Given the description of an element on the screen output the (x, y) to click on. 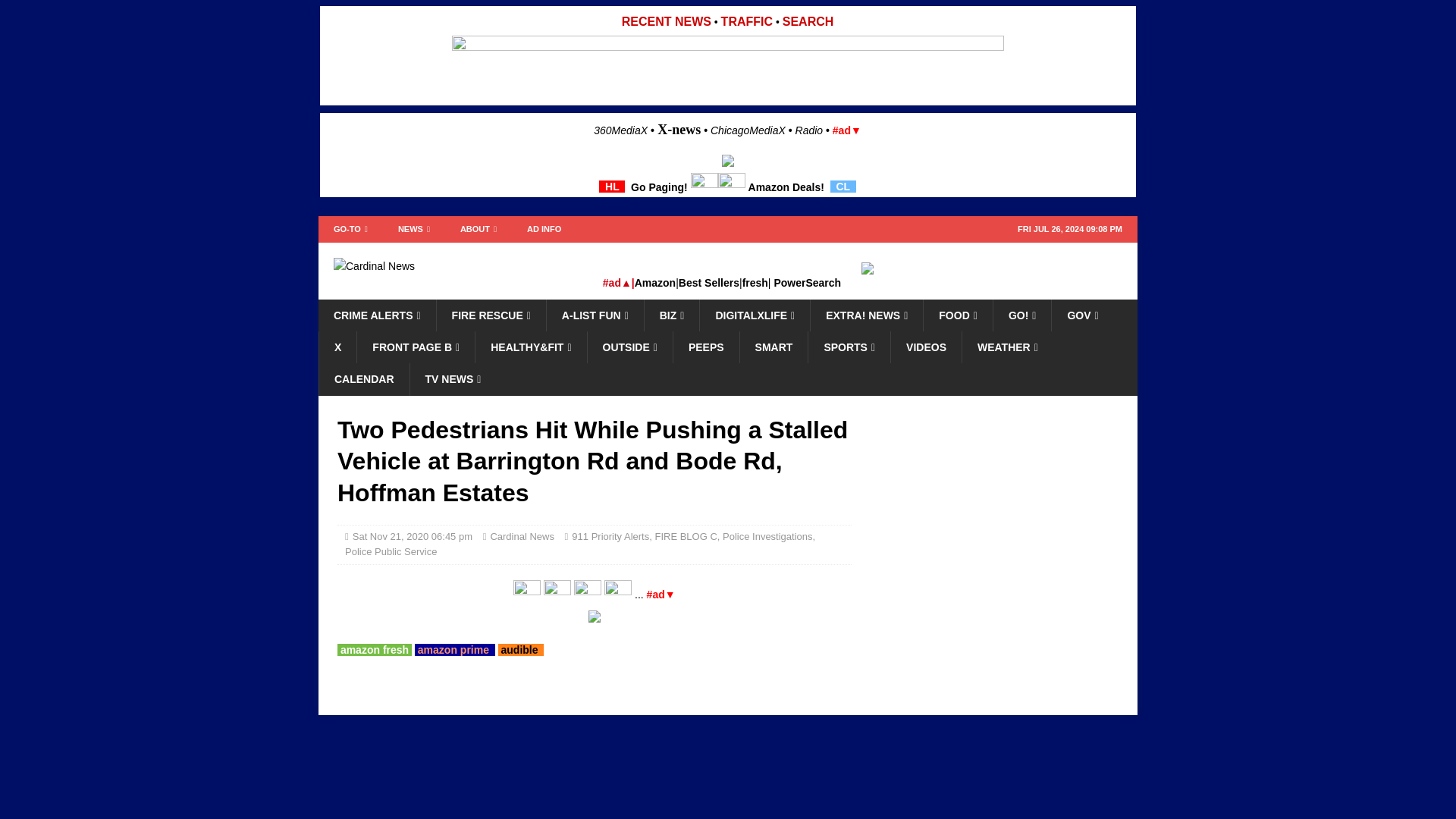
NEWS (413, 229)
X-news (679, 129)
RECENT NEWS (666, 21)
Go Paging! (658, 186)
  HL   (611, 186)
  CL   (842, 186)
ChicagoMediaX (748, 130)
GO-TO (350, 229)
Radio (809, 130)
360MediaX (622, 130)
SEARCH (808, 21)
Amazon Deals! (786, 186)
TRAFFIC (746, 21)
